Given the description of an element on the screen output the (x, y) to click on. 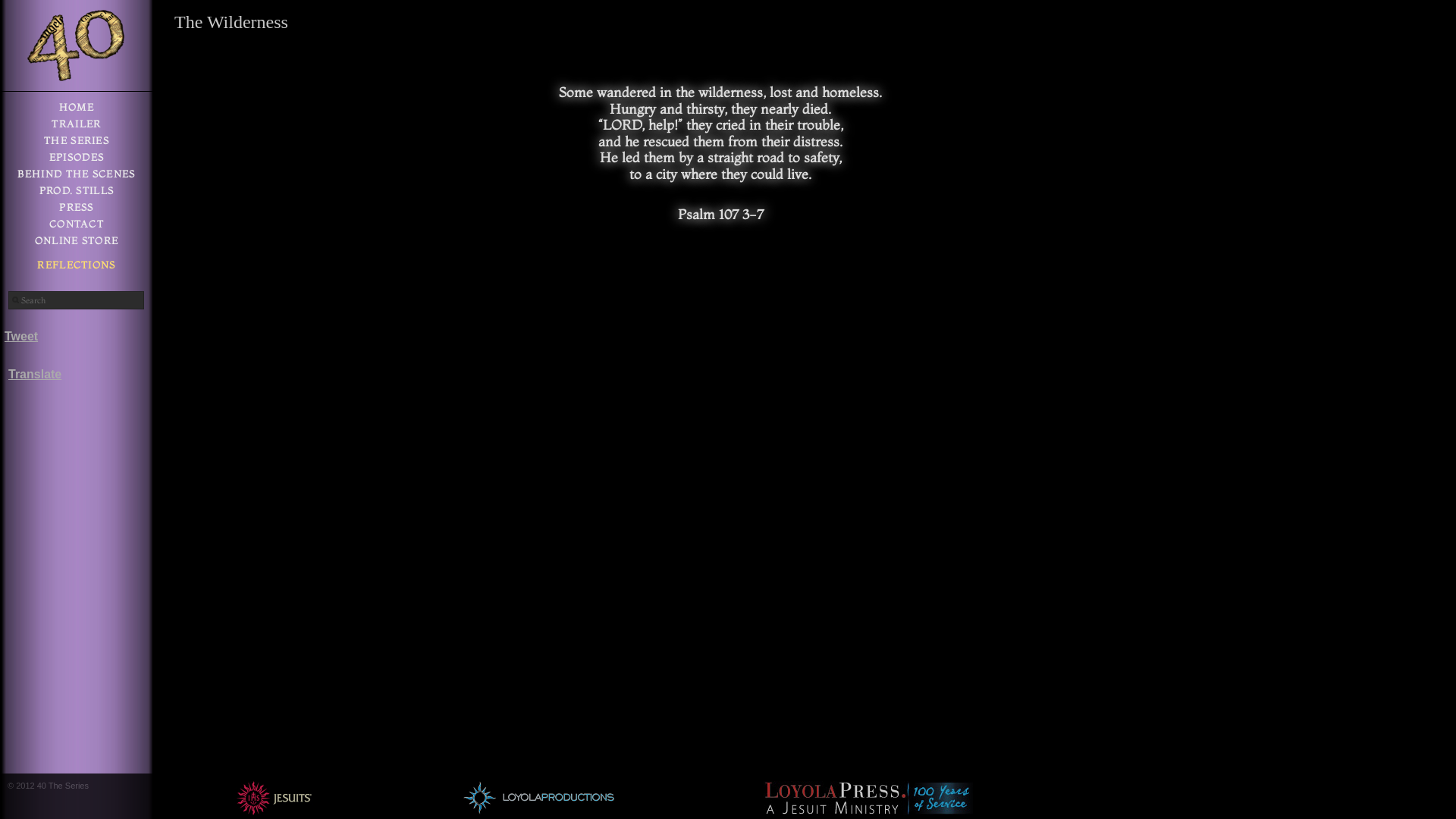
Translate Element type: text (34, 374)
REFLECTIONS Element type: text (76, 267)
Loyola Press Element type: hover (867, 798)
HOME Element type: text (76, 109)
THE SERIES Element type: text (76, 142)
CONTACT Element type: text (76, 226)
Jesuits Chicago/Detroit Province Element type: hover (273, 798)
TRAILER Element type: text (76, 126)
PRESS Element type: text (76, 209)
BEHIND THE SCENES Element type: text (76, 176)
Tweet Element type: text (26, 336)
PROD. STILLS Element type: text (76, 193)
ONLINE STORE Element type: text (76, 243)
40 The Series Element type: hover (75, 45)
Loyola Productions Element type: hover (538, 798)
EPISODES Element type: text (76, 159)
